Given the description of an element on the screen output the (x, y) to click on. 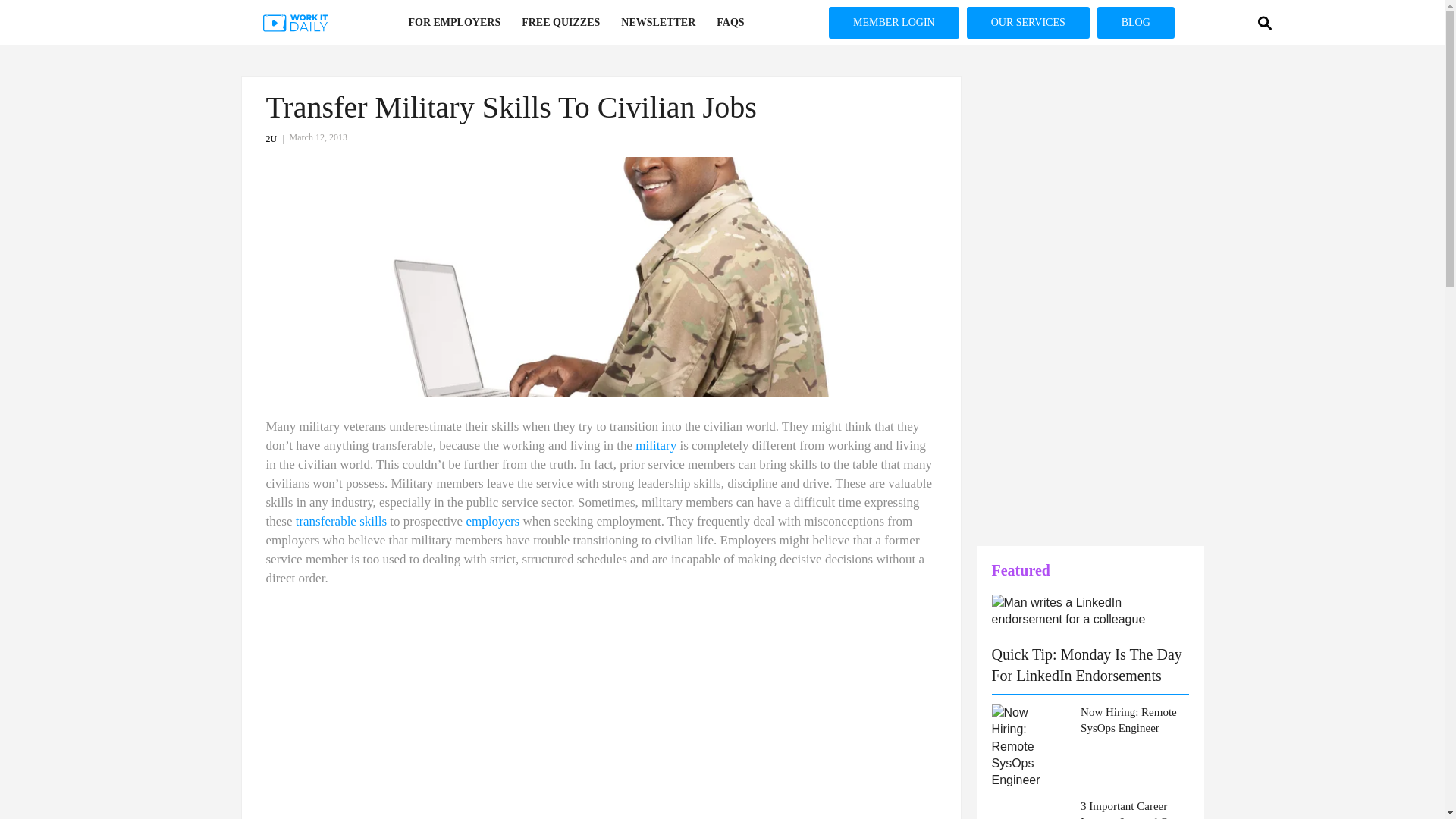
military (655, 445)
FREE QUIZZES (560, 22)
NEWSLETTER (658, 22)
2U (276, 138)
FOR EMPLOYERS (454, 22)
MEMBER LOGIN (893, 22)
BLOG (1135, 22)
OUR SERVICES (21, 239)
transferable skills (341, 521)
FAQS (730, 22)
employers (492, 521)
MEMBER LOGIN (21, 190)
OUR SERVICES (1027, 22)
BLOG (21, 288)
